Given the description of an element on the screen output the (x, y) to click on. 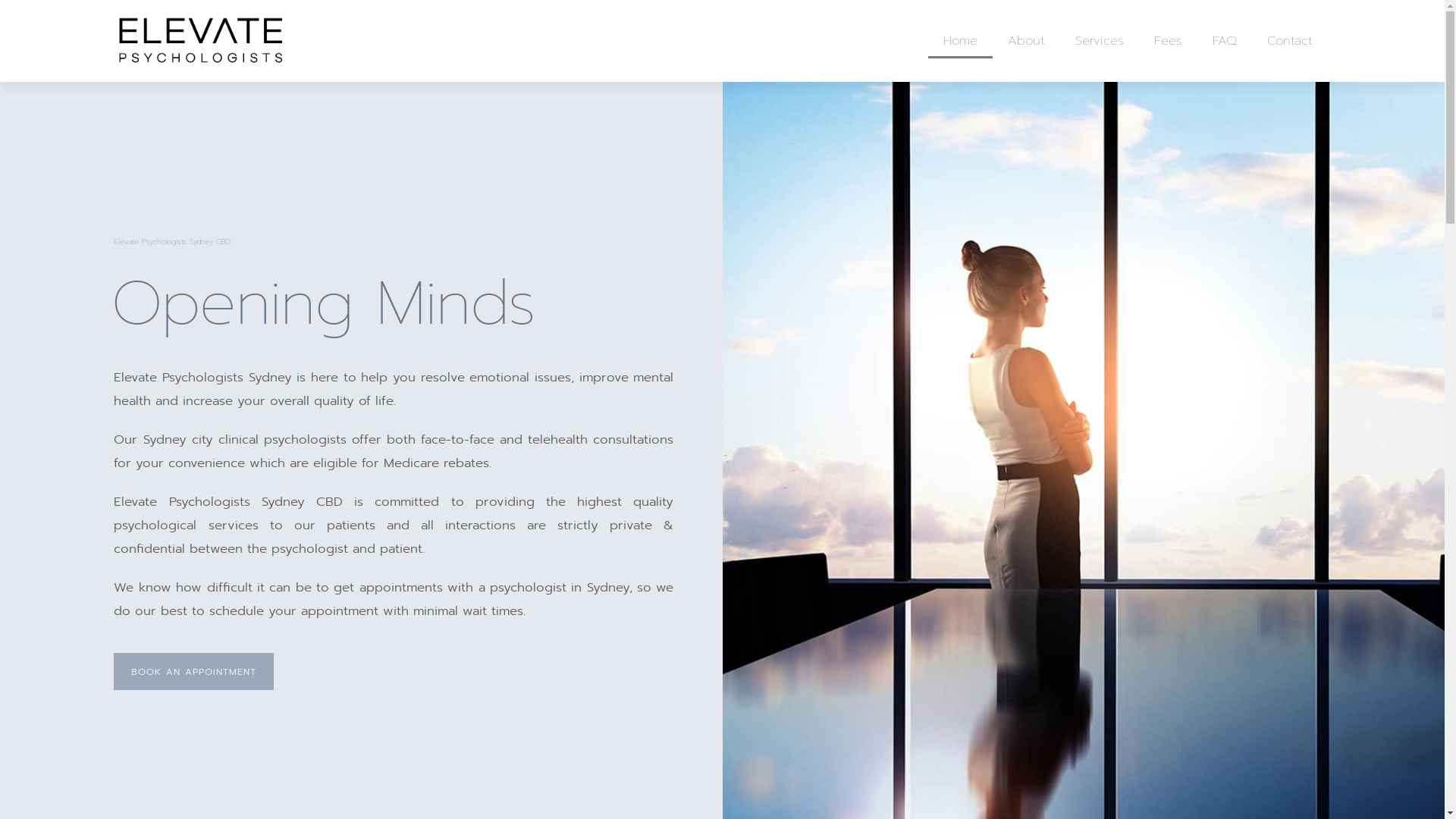
Fees Element type: text (1168, 40)
Contact Element type: text (1289, 40)
Home Element type: text (960, 40)
Services Element type: text (1099, 40)
BOOK AN APPOINTMENT Element type: text (193, 671)
FAQ Element type: text (1224, 40)
About Element type: text (1026, 40)
